Given the description of an element on the screen output the (x, y) to click on. 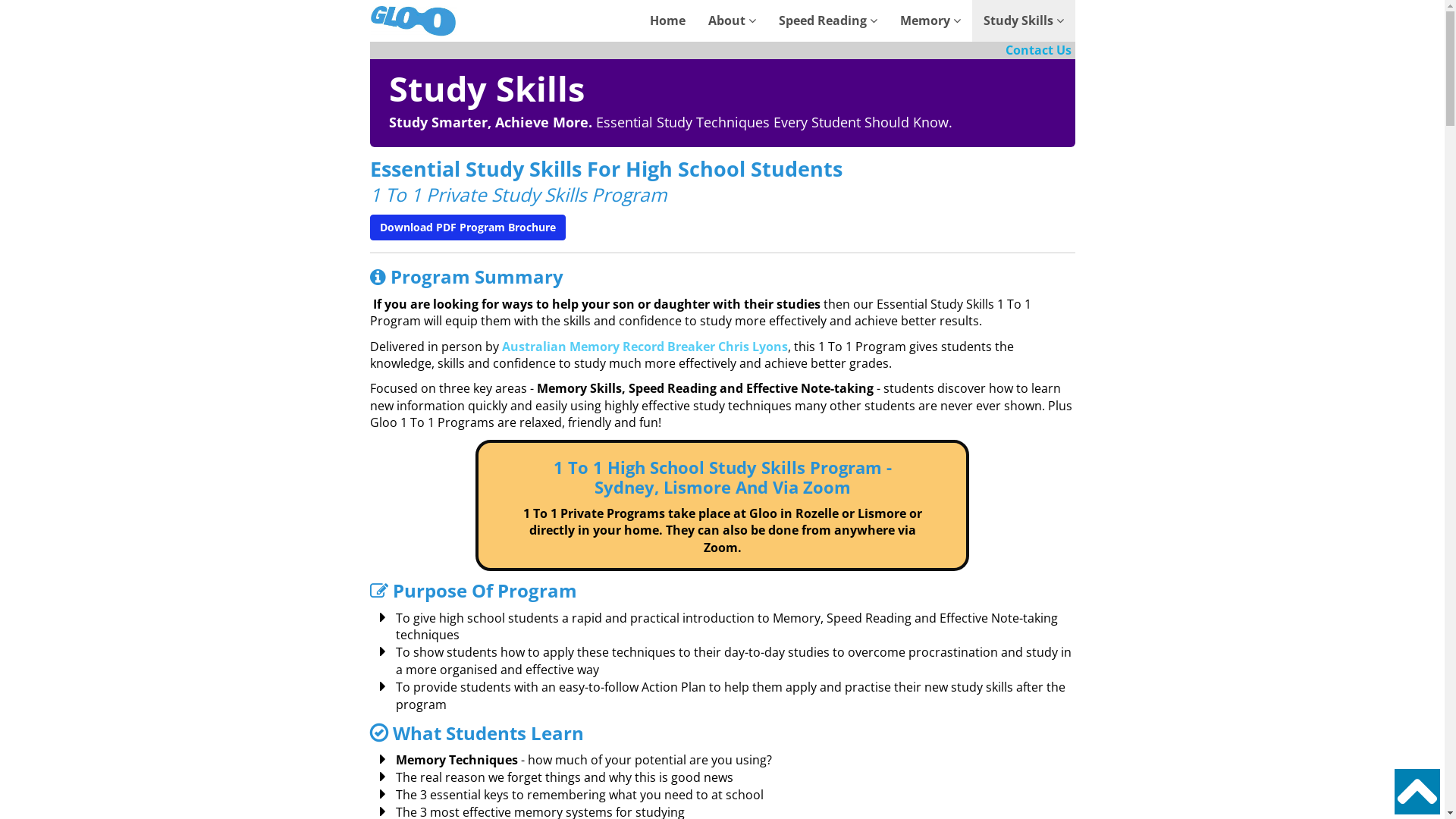
Australian Memory Record Breaker Chris Lyons Element type: text (644, 346)
Memory Element type: text (930, 20)
Speed Reading Element type: text (827, 20)
About Element type: text (731, 20)
Home Element type: text (667, 20)
Download PDF Program Brochure Element type: text (467, 227)
Study Skills Element type: text (1023, 20)
Contact Us Element type: text (1038, 49)
